Given the description of an element on the screen output the (x, y) to click on. 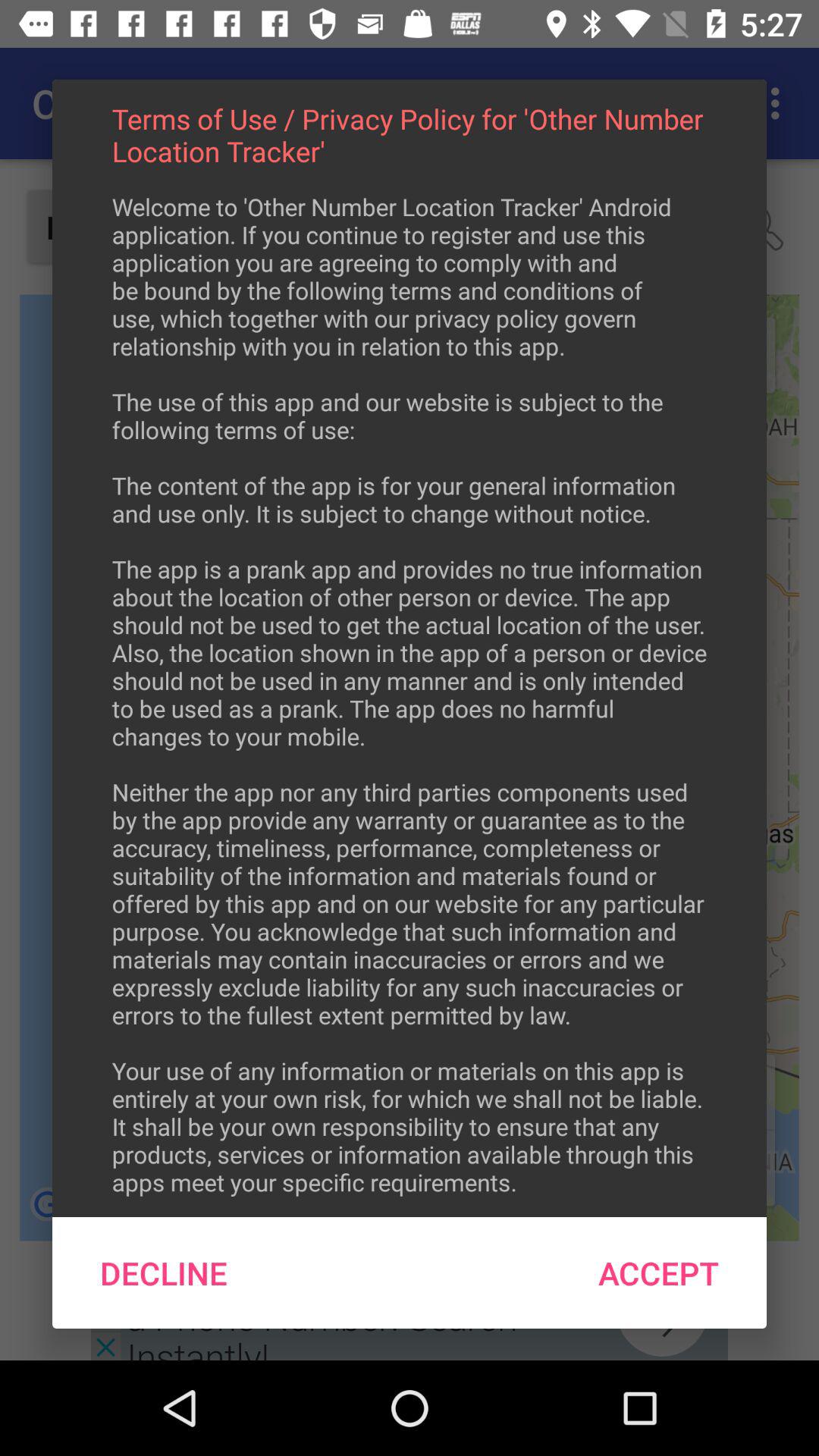
open decline at the bottom left corner (163, 1272)
